Given the description of an element on the screen output the (x, y) to click on. 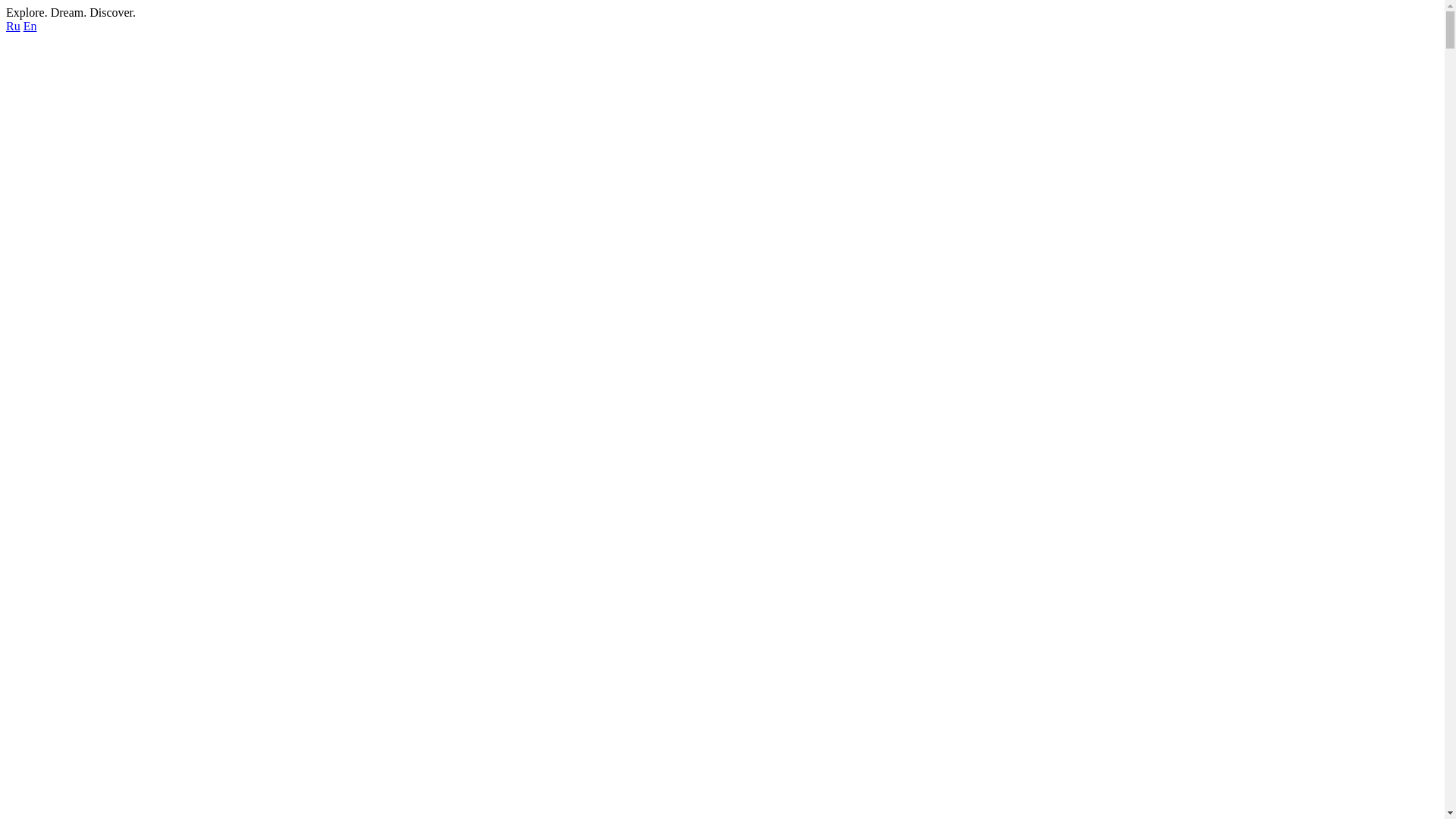
Ru Element type: text (13, 25)
En Element type: text (30, 25)
